Given the description of an element on the screen output the (x, y) to click on. 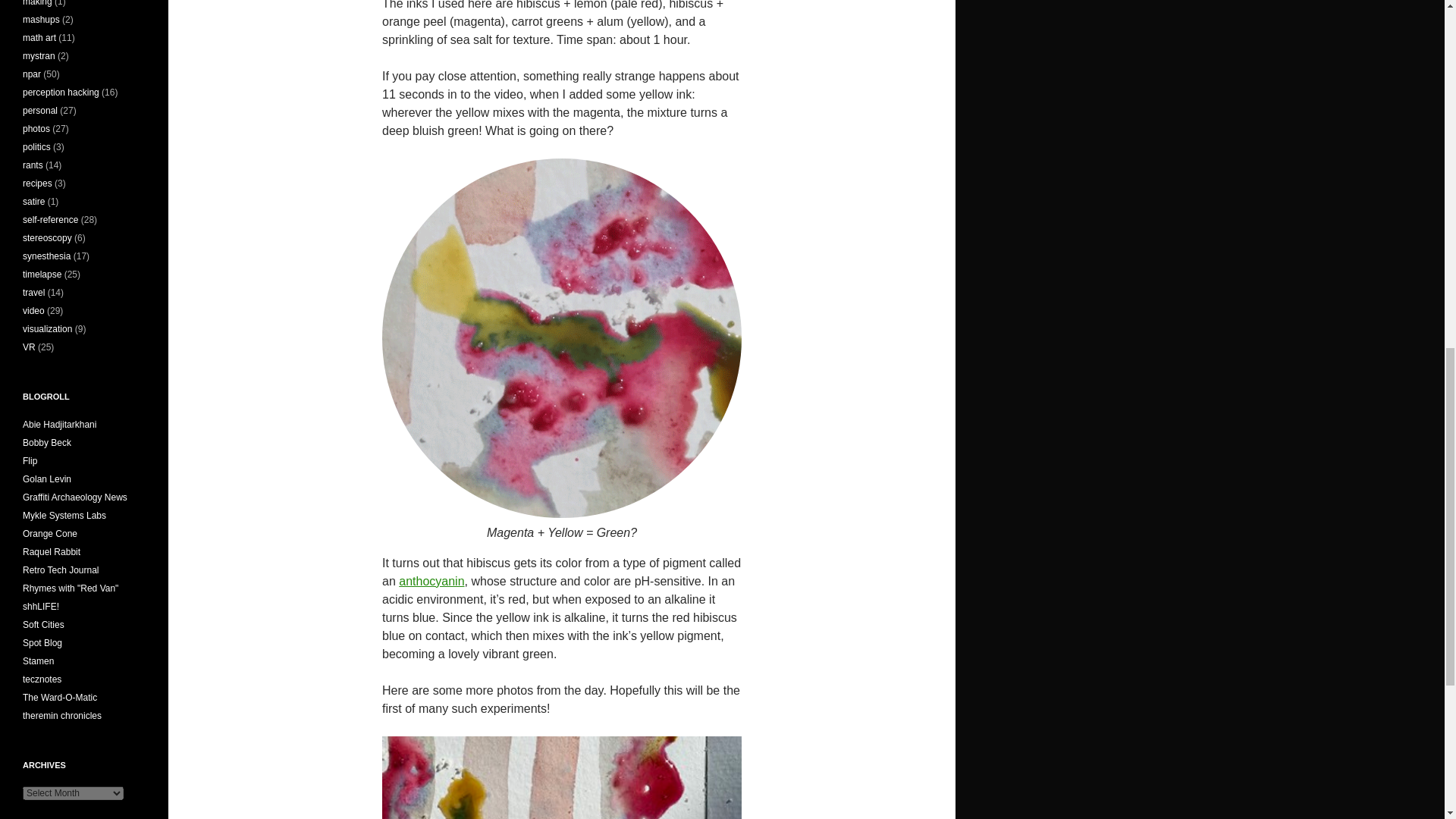
Boom! (47, 442)
self-described polymath and all around fine fellow (59, 424)
Mike Kuniavsky (50, 533)
software artist Scott Draves (42, 643)
Famous Author Mykle Hansen! (64, 515)
updates about the Graffiti Archaeology project (75, 497)
the one and only Raquel Coelho (51, 552)
Jason Schleifer (41, 606)
custom printed map blankets! (43, 624)
animator Cameron Fielding (30, 460)
